Given the description of an element on the screen output the (x, y) to click on. 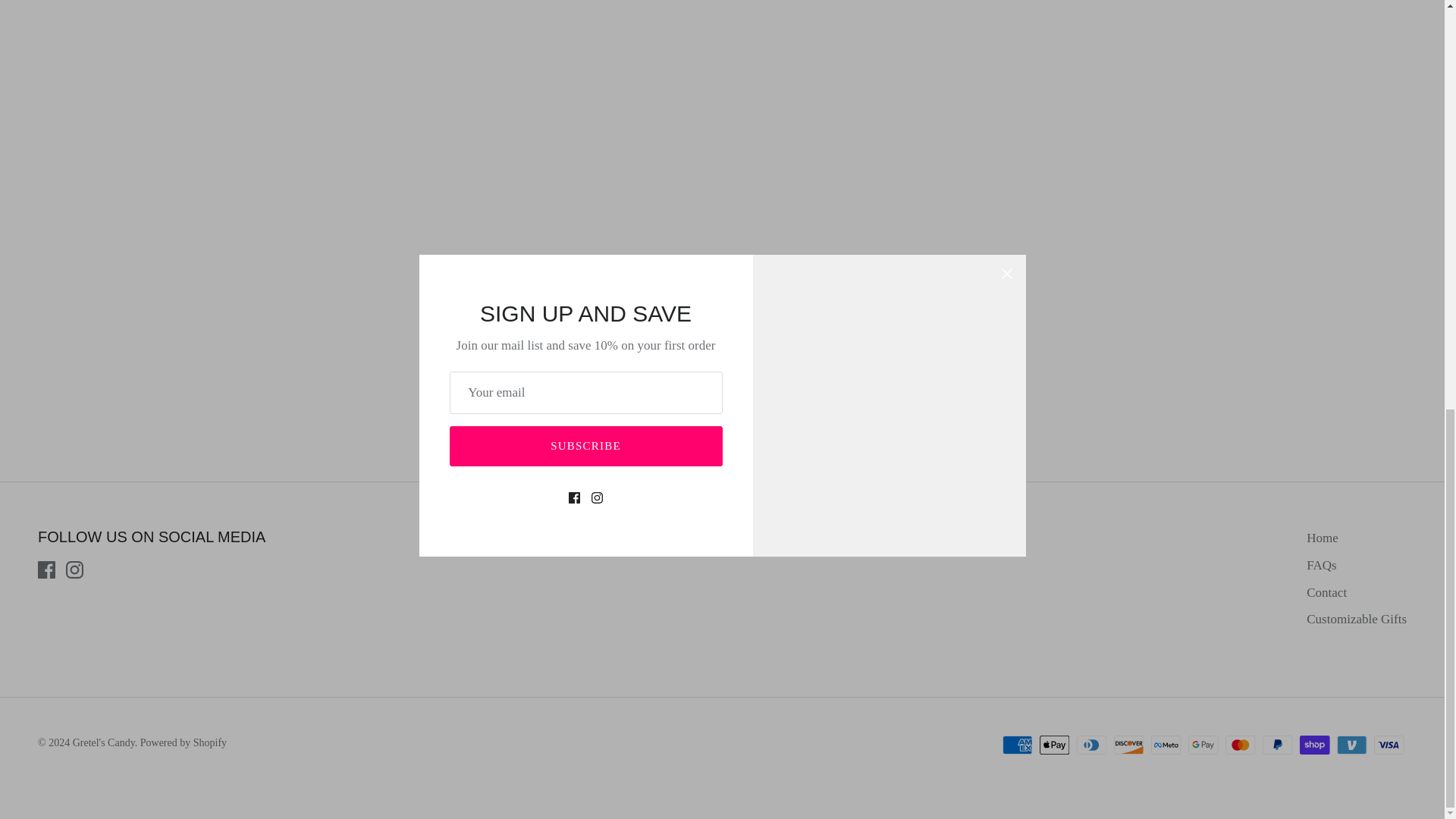
Meta Pay (1165, 744)
Apple Pay (1054, 744)
Mastercard (1240, 744)
Facebook (46, 569)
Google Pay (1203, 744)
Venmo (1351, 744)
Discover (1128, 744)
American Express (1017, 744)
Instagram (73, 569)
Visa (1388, 744)
Shop Pay (1314, 744)
PayPal (1277, 744)
Diners Club (1091, 744)
